Given the description of an element on the screen output the (x, y) to click on. 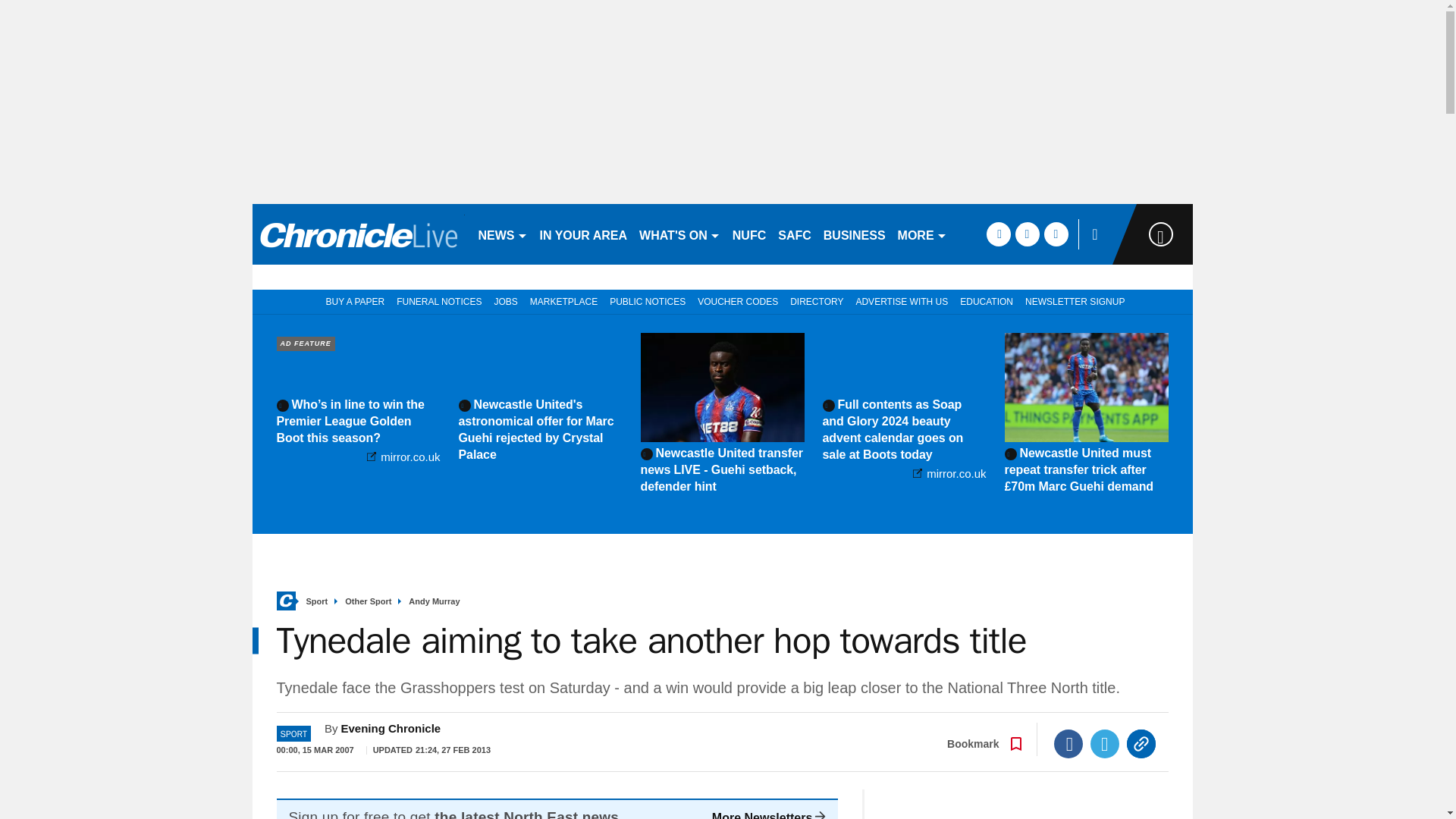
BUSINESS (853, 233)
IN YOUR AREA (583, 233)
Twitter (1104, 743)
facebook (997, 233)
MORE (922, 233)
Facebook (1068, 743)
instagram (1055, 233)
nechronicle (357, 233)
twitter (1026, 233)
WHAT'S ON (679, 233)
